Given the description of an element on the screen output the (x, y) to click on. 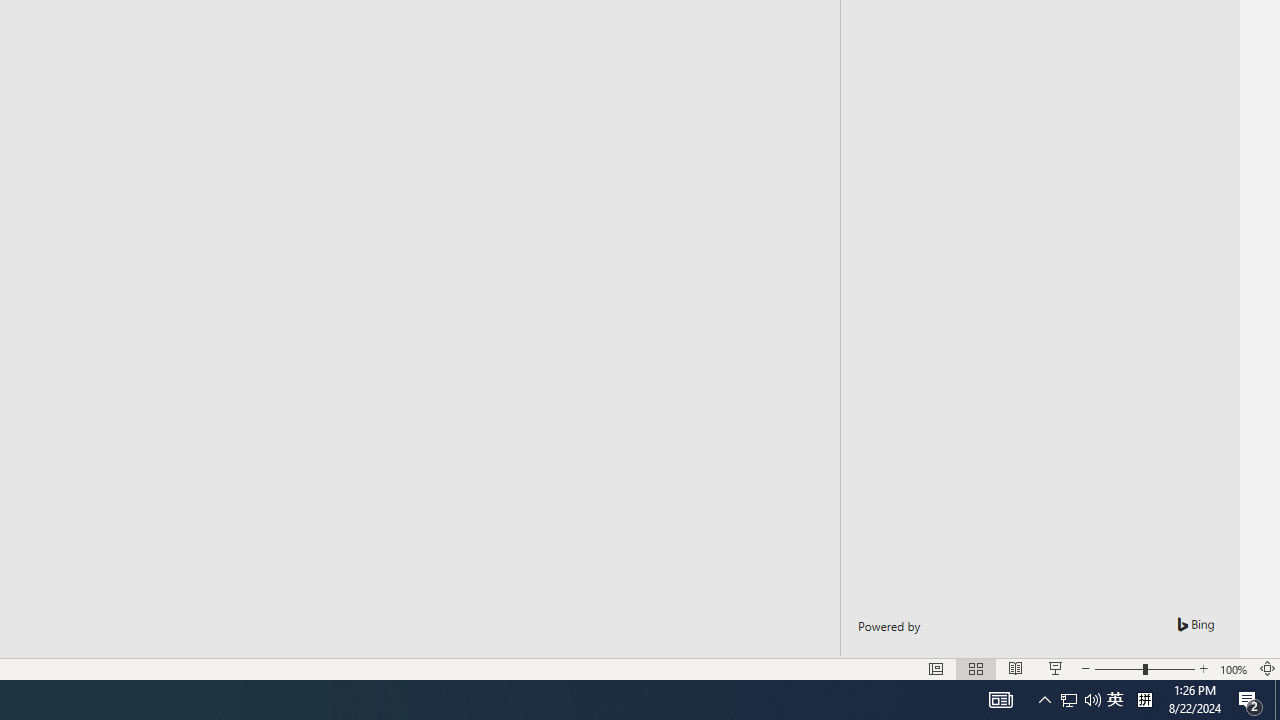
Zoom 100% (1234, 668)
